Given the description of an element on the screen output the (x, y) to click on. 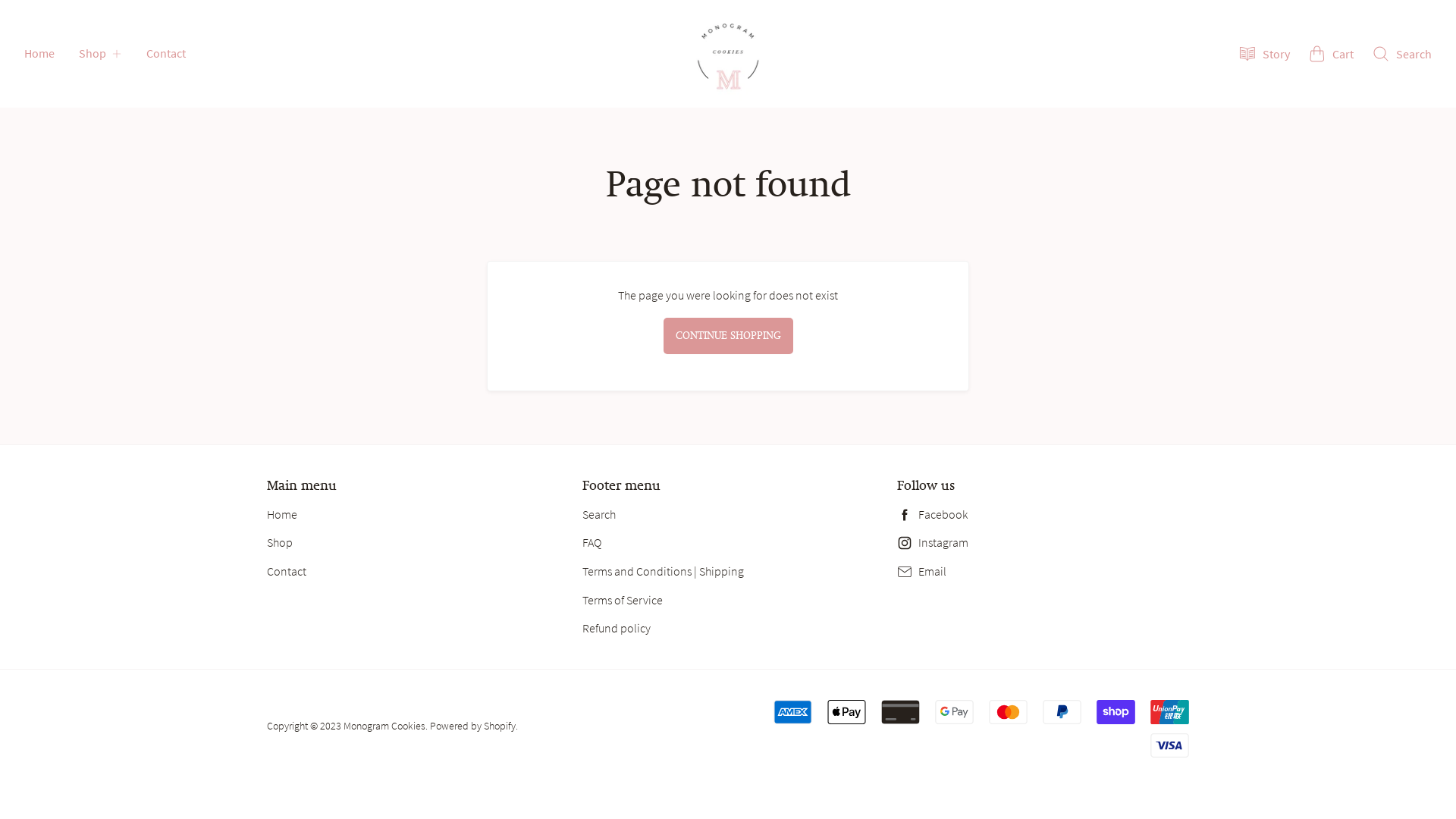
Home Element type: text (39, 53)
Powered by Shopify Element type: text (472, 725)
Facebook Element type: text (1042, 514)
Search Element type: text (1401, 53)
FAQ Element type: text (591, 541)
Contact Element type: text (286, 570)
Terms and Conditions | Shipping Element type: text (662, 570)
Cart Element type: text (1330, 53)
CONTINUE SHOPPING Element type: text (727, 335)
Email Element type: text (1042, 571)
Search Element type: text (598, 513)
Story Element type: text (1263, 53)
Refund policy Element type: text (616, 627)
Contact Element type: text (165, 53)
Shop Element type: text (100, 53)
Terms of Service Element type: text (622, 599)
Home Element type: text (281, 513)
Shop Element type: text (279, 541)
Instagram Element type: text (1042, 542)
